Given the description of an element on the screen output the (x, y) to click on. 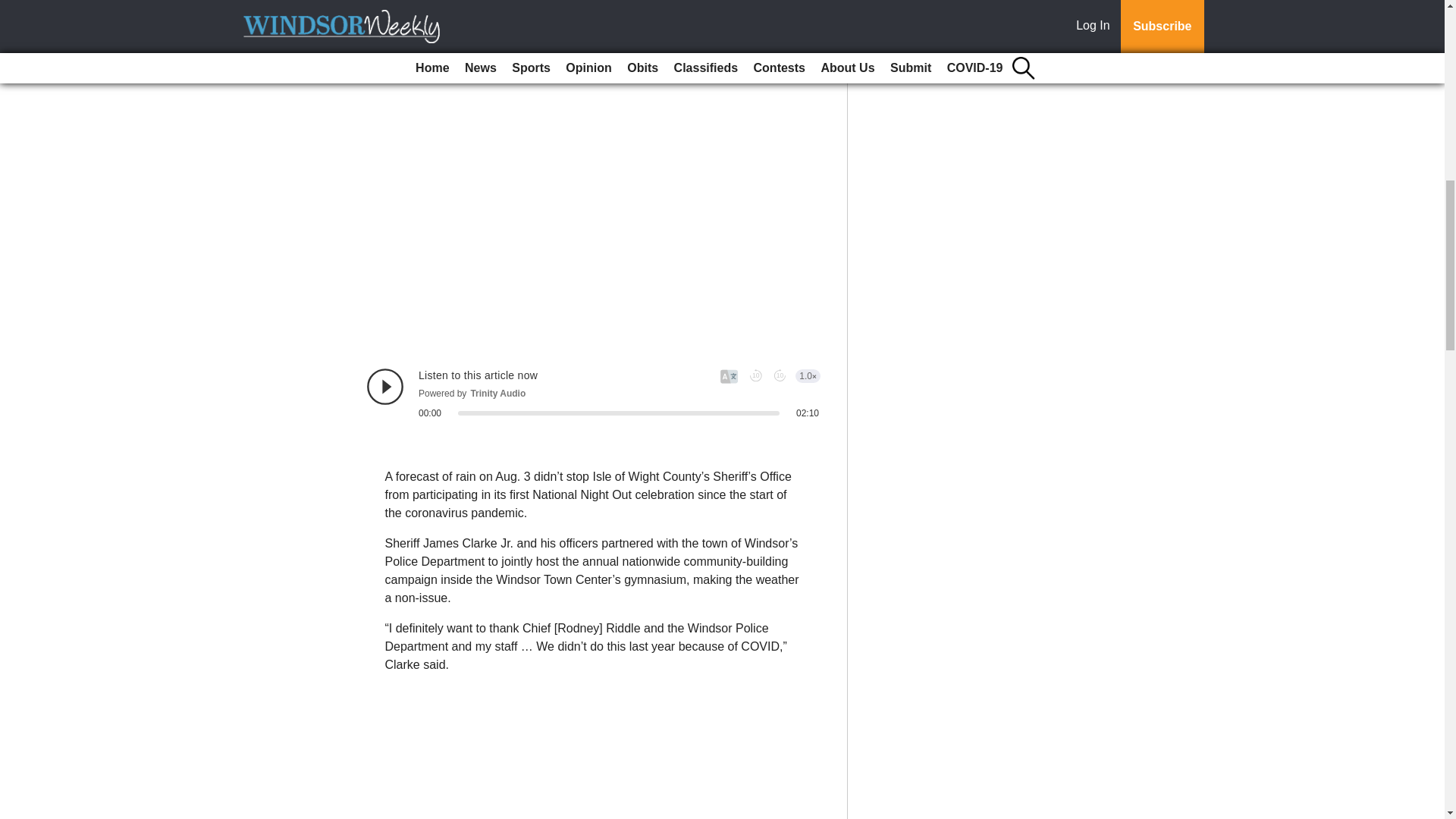
Trinity Audio Player (592, 393)
